Given the description of an element on the screen output the (x, y) to click on. 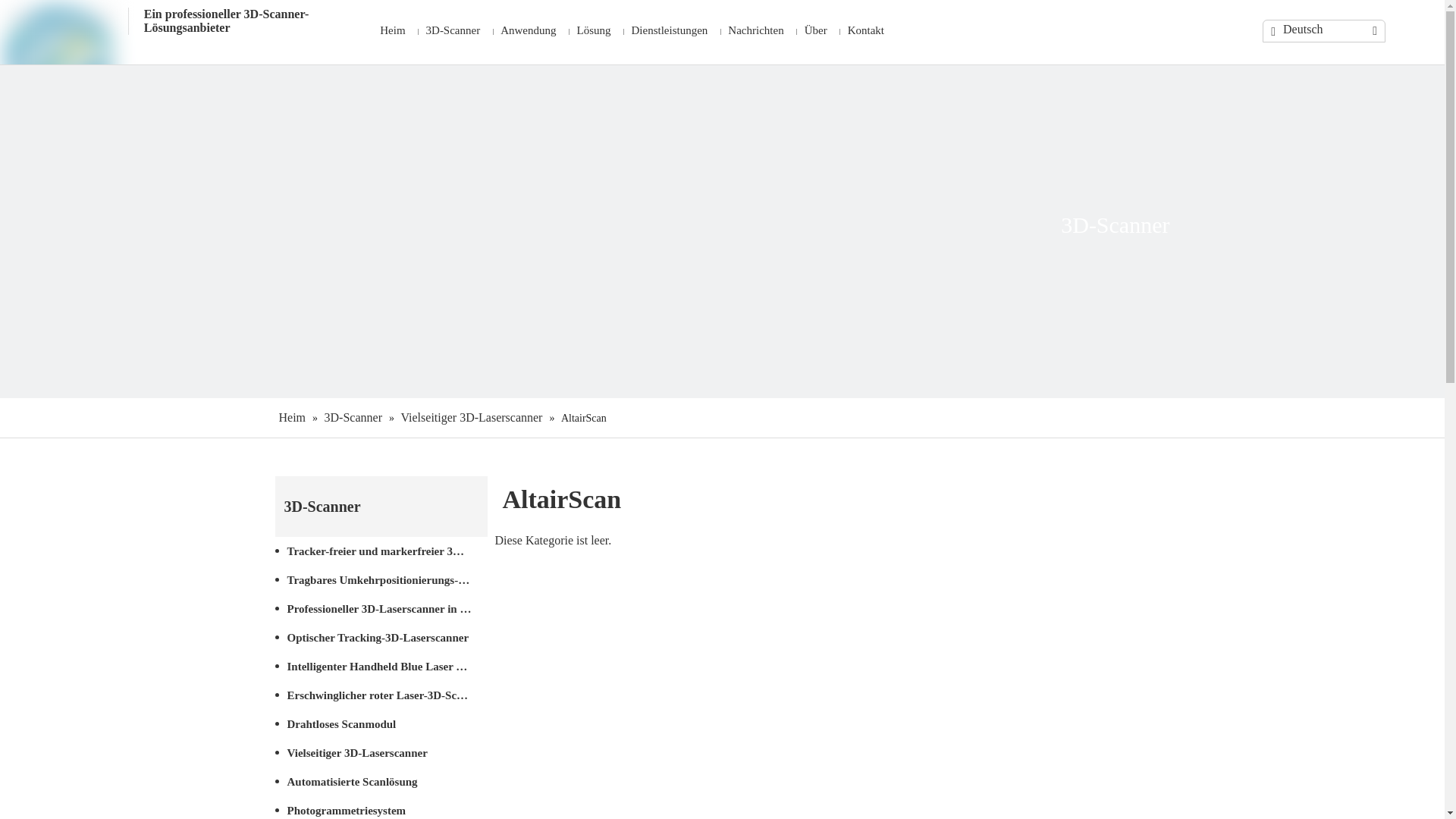
3D-Scanner Element type: text (450, 31)
Vielseitiger 3D-Laserscanner Element type: text (380, 752)
Anwendung Element type: text (525, 31)
Erschwinglicher roter Laser-3D-Scanner Element type: text (380, 694)
Professioneller 3D-Laserscanner in Messtechnik Element type: text (380, 608)
Tragbares Umkehrpositionierungs-KMG Element type: text (380, 579)
Tracker-freier und markerfreier 3D-Laserscanner Element type: text (380, 550)
Kontakt Element type: text (863, 31)
Dienstleistungen Element type: text (667, 31)
3D-Scanner Element type: text (354, 417)
Drahtloses Scanmodul Element type: text (380, 723)
Vielseitiger 3D-Laserscanner Element type: text (472, 417)
Intelligenter Handheld Blue Laser 3D Scanner Element type: text (380, 666)
Heim Element type: text (389, 31)
Heim Element type: text (294, 417)
Optischer Tracking-3D-Laserscanner Element type: text (380, 637)
Nachrichten Element type: text (753, 31)
